Given the description of an element on the screen output the (x, y) to click on. 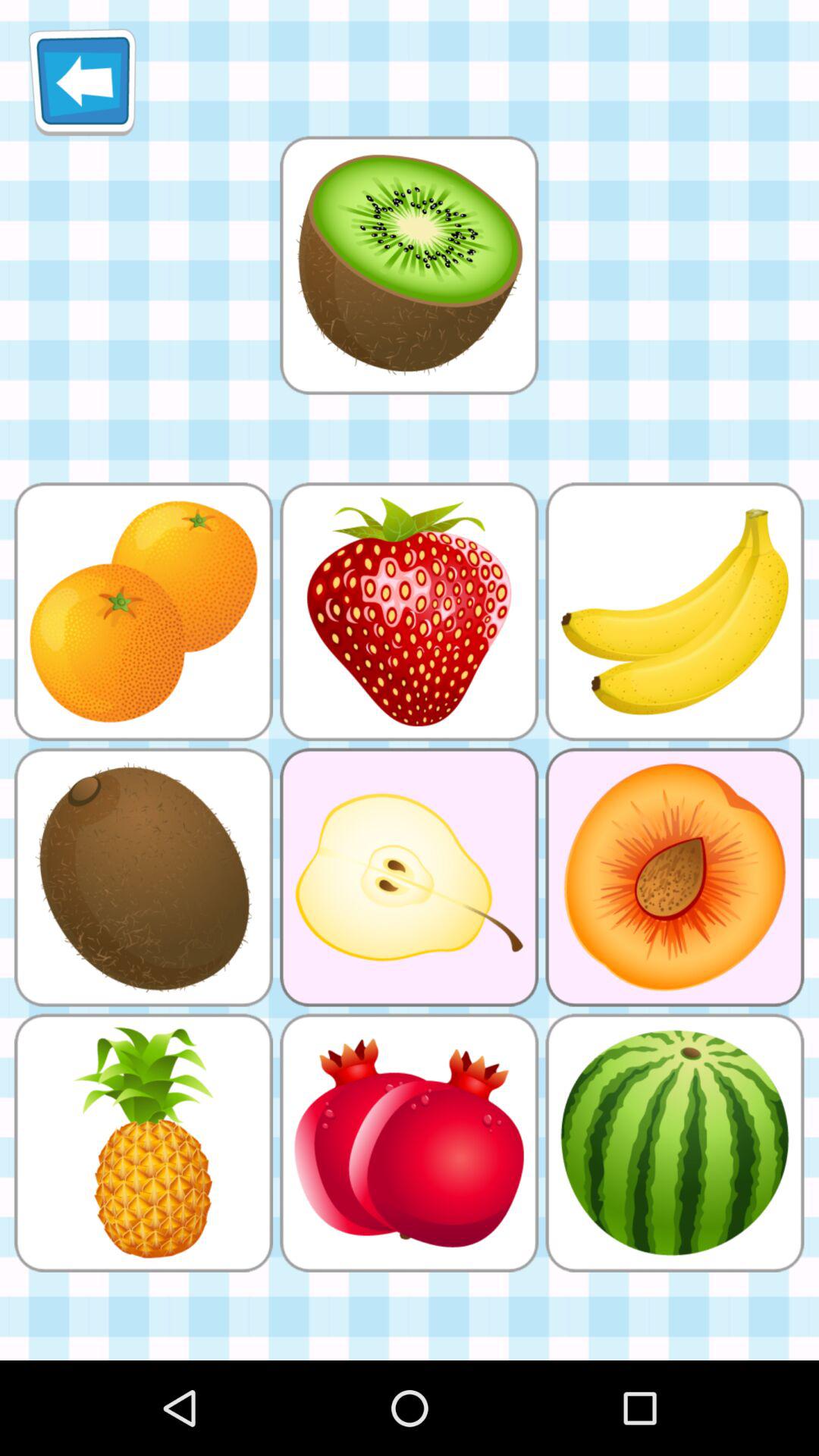
fruit icon (409, 265)
